Given the description of an element on the screen output the (x, y) to click on. 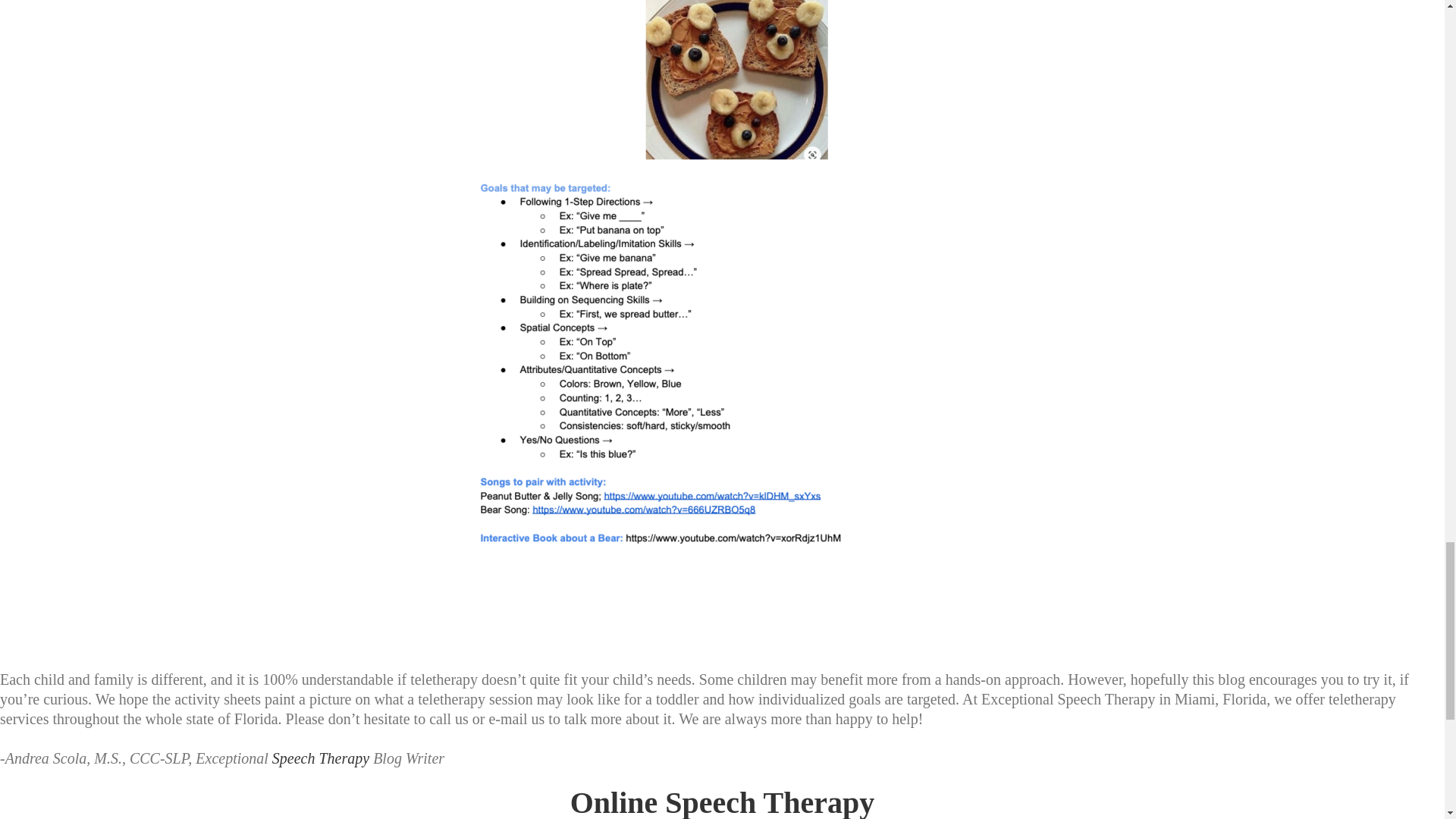
Online Speech Therapy (722, 802)
Speech Therapy (320, 758)
Speech Therapy (320, 758)
